Given the description of an element on the screen output the (x, y) to click on. 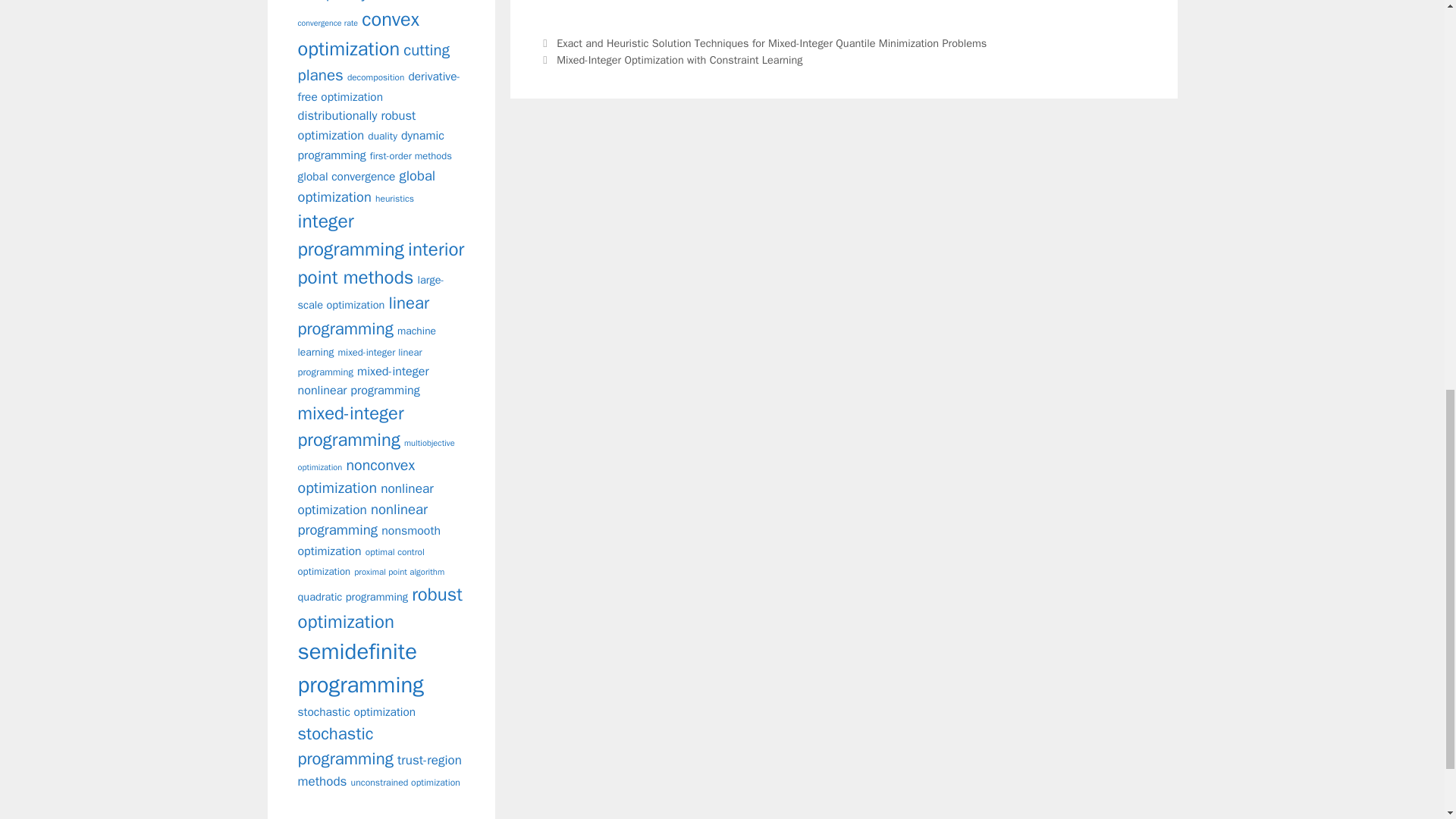
Mixed-Integer Optimization with Constraint Learning (679, 59)
Previous (763, 42)
Next (671, 59)
complexity (331, 1)
conic optimization (403, 0)
